Given the description of an element on the screen output the (x, y) to click on. 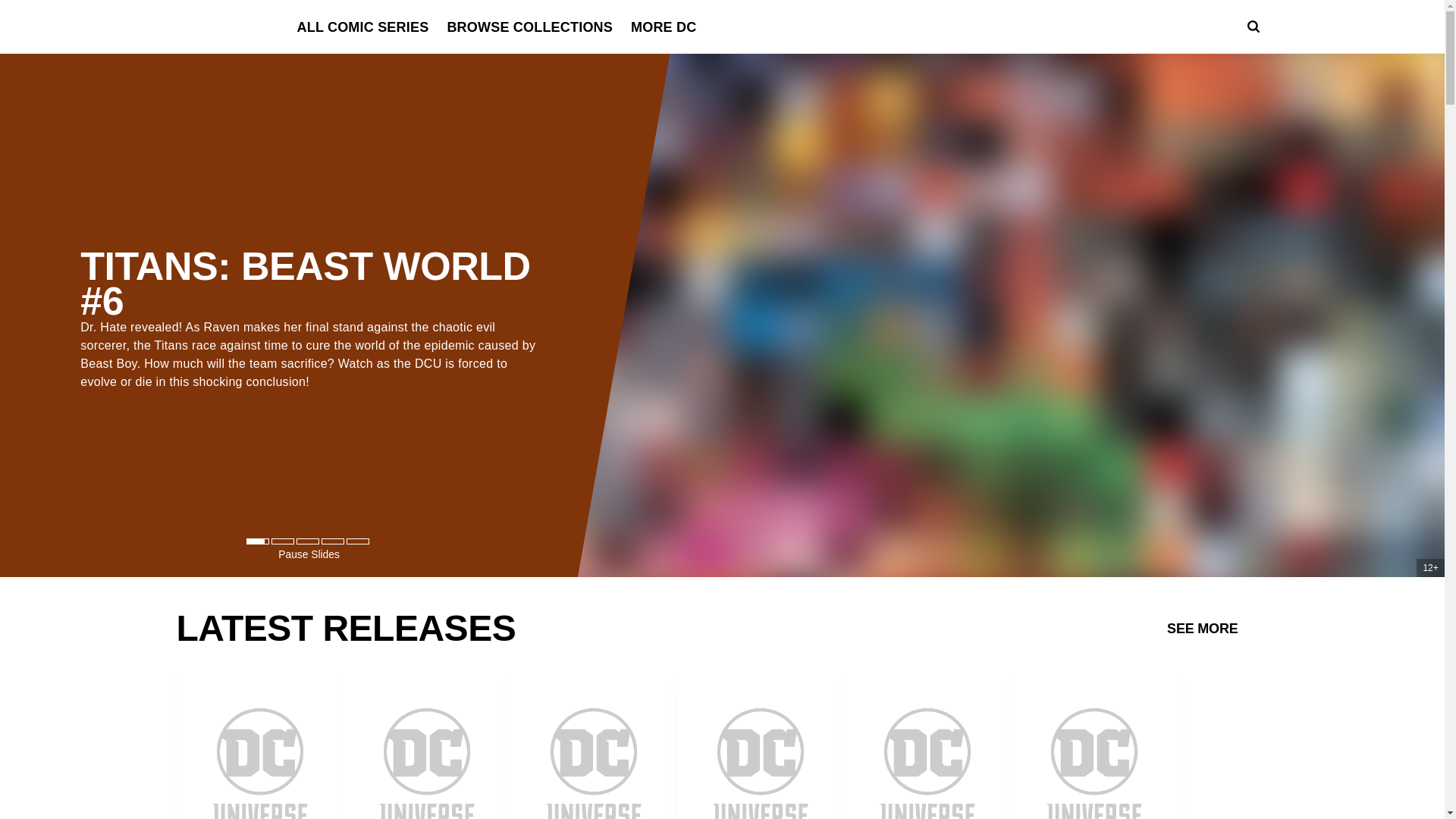
DC Universe (218, 26)
SEE MORE (1202, 627)
MORE DC (662, 26)
ALL COMIC SERIES (363, 26)
BROWSE COLLECTIONS (529, 26)
